Given the description of an element on the screen output the (x, y) to click on. 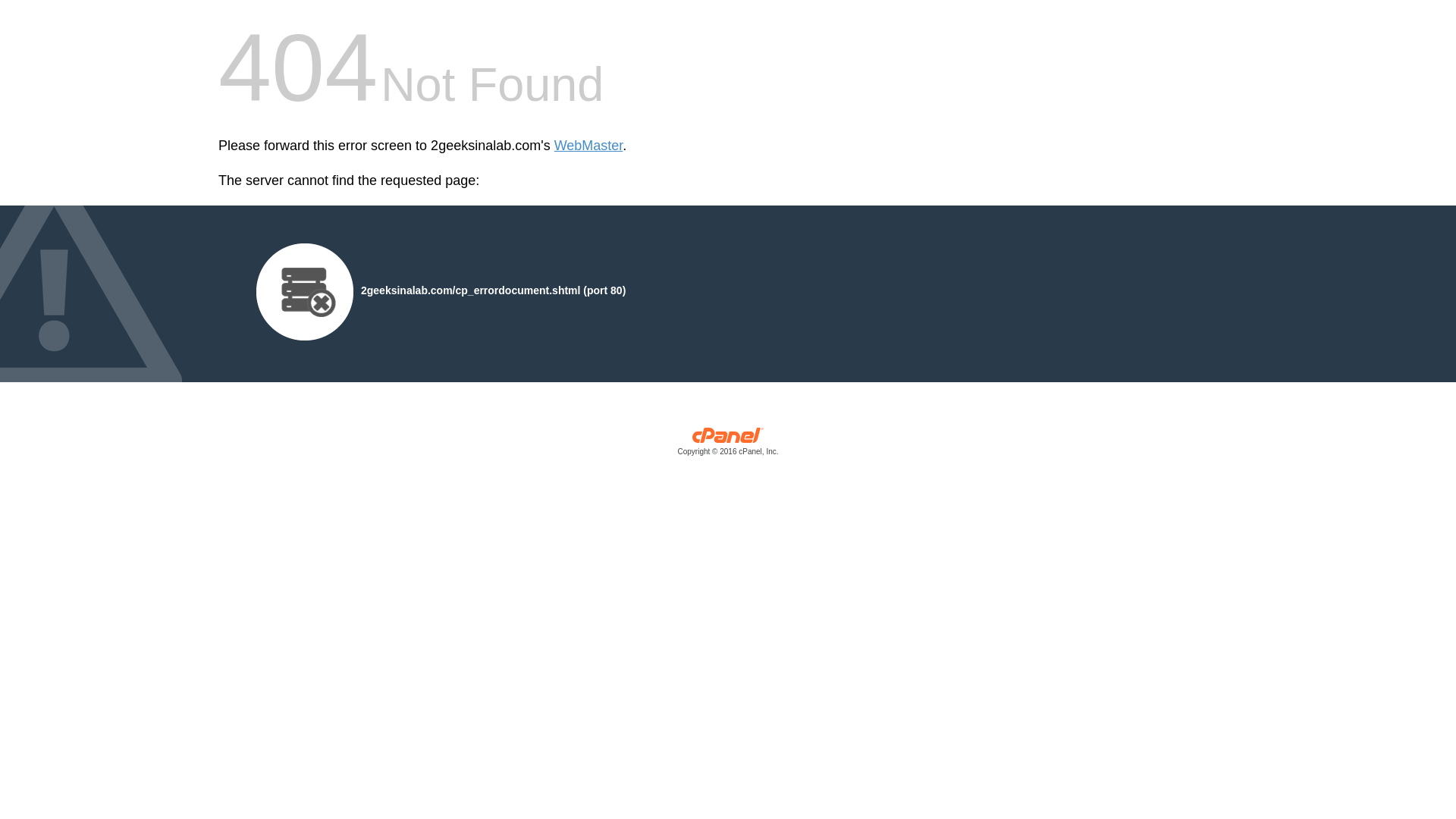
WebMaster Element type: text (588, 145)
